Given the description of an element on the screen output the (x, y) to click on. 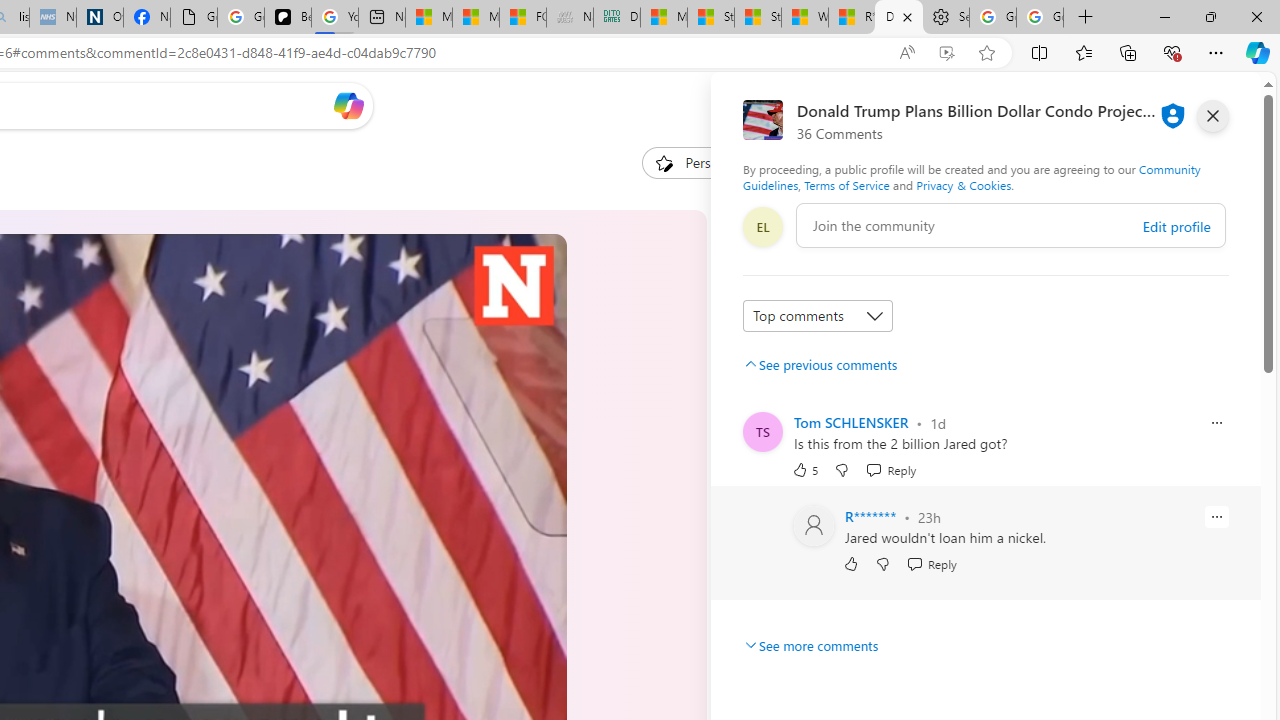
Edit profile (1175, 226)
Terms of Service (846, 184)
